Given the description of an element on the screen output the (x, y) to click on. 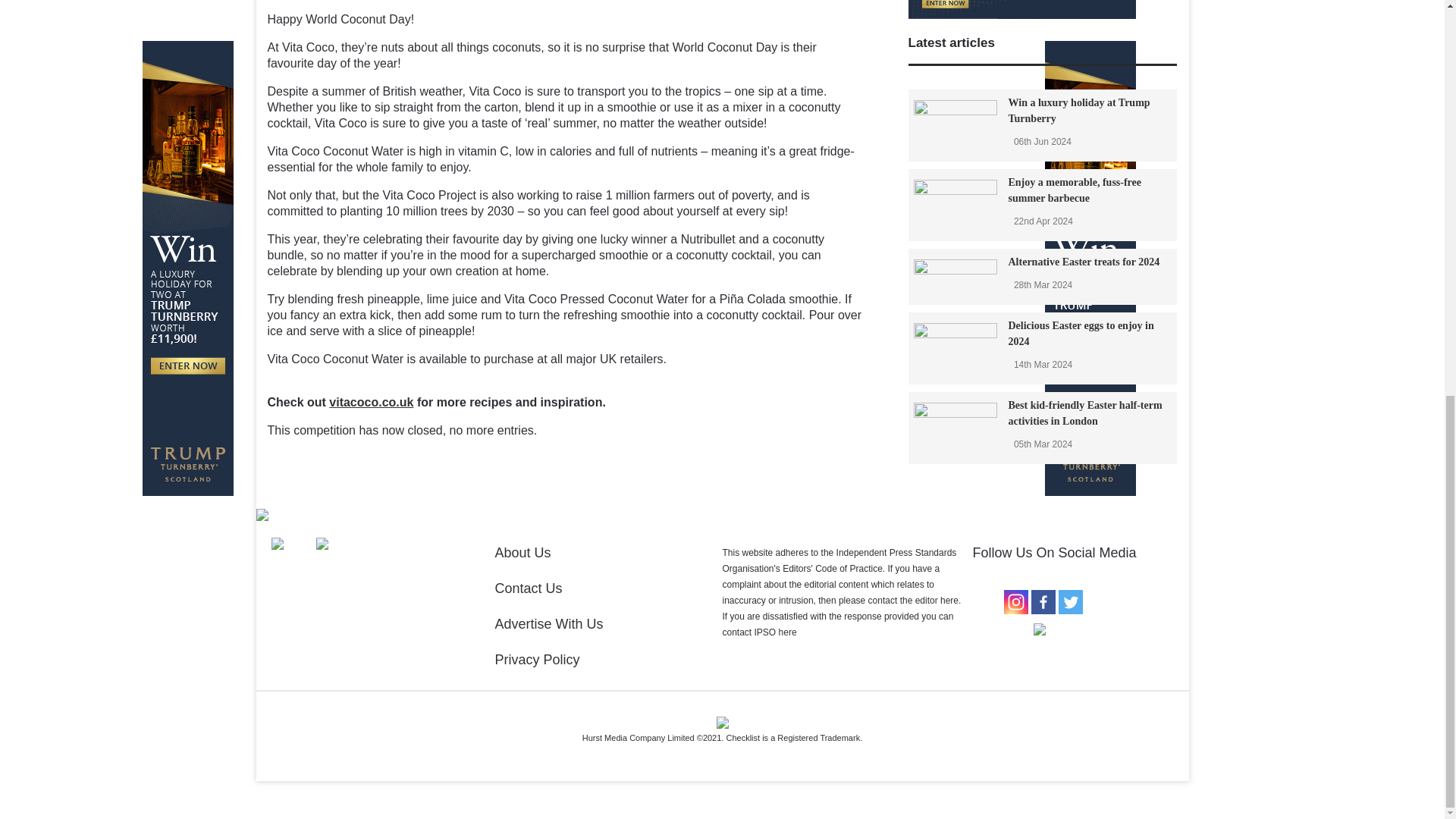
Twitter (1070, 601)
Facebook (1042, 601)
Instagram (1015, 601)
